Given the description of an element on the screen output the (x, y) to click on. 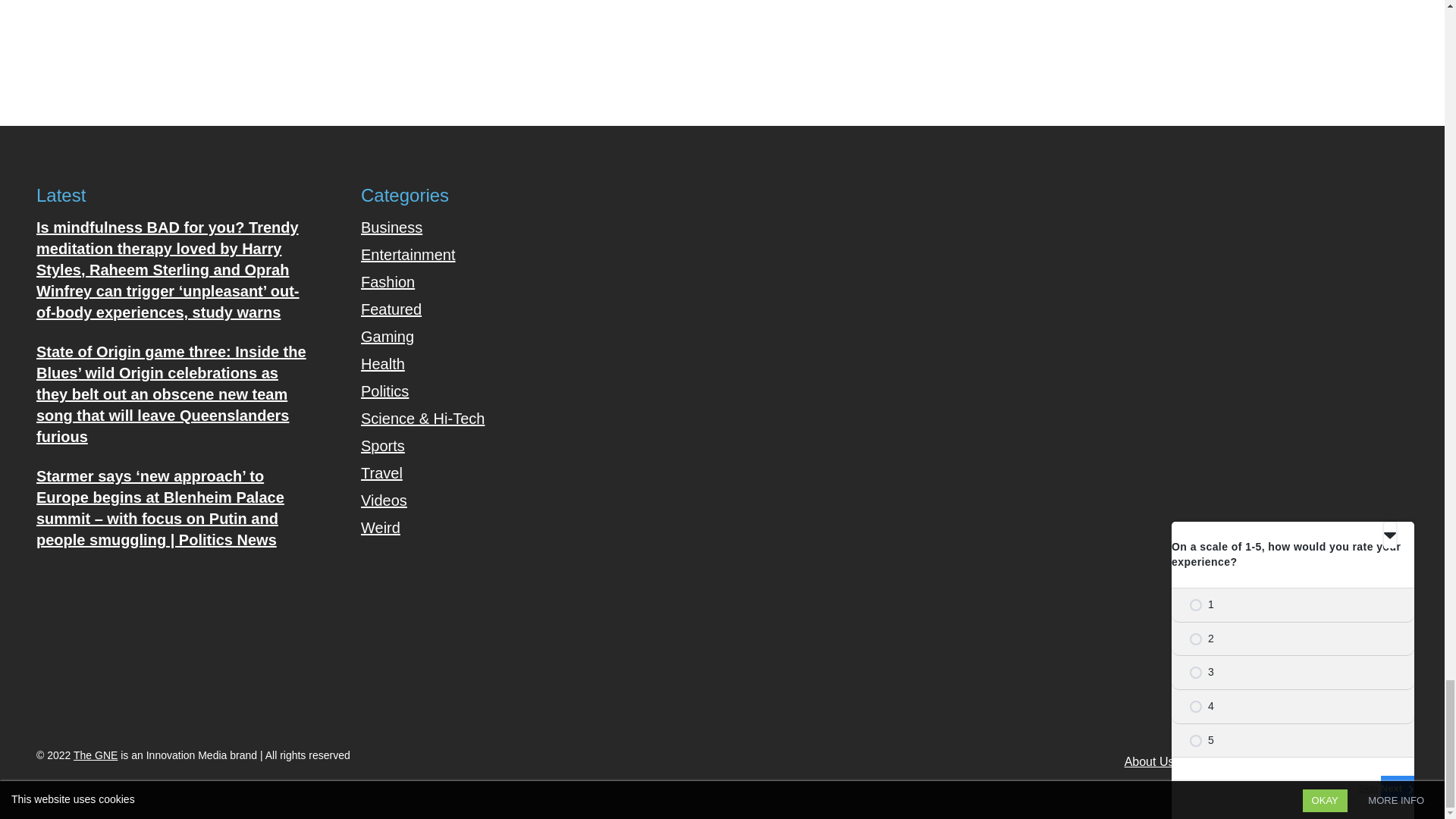
Fashion (387, 281)
Featured (391, 309)
Business (391, 227)
Entertainment (408, 254)
